Given the description of an element on the screen output the (x, y) to click on. 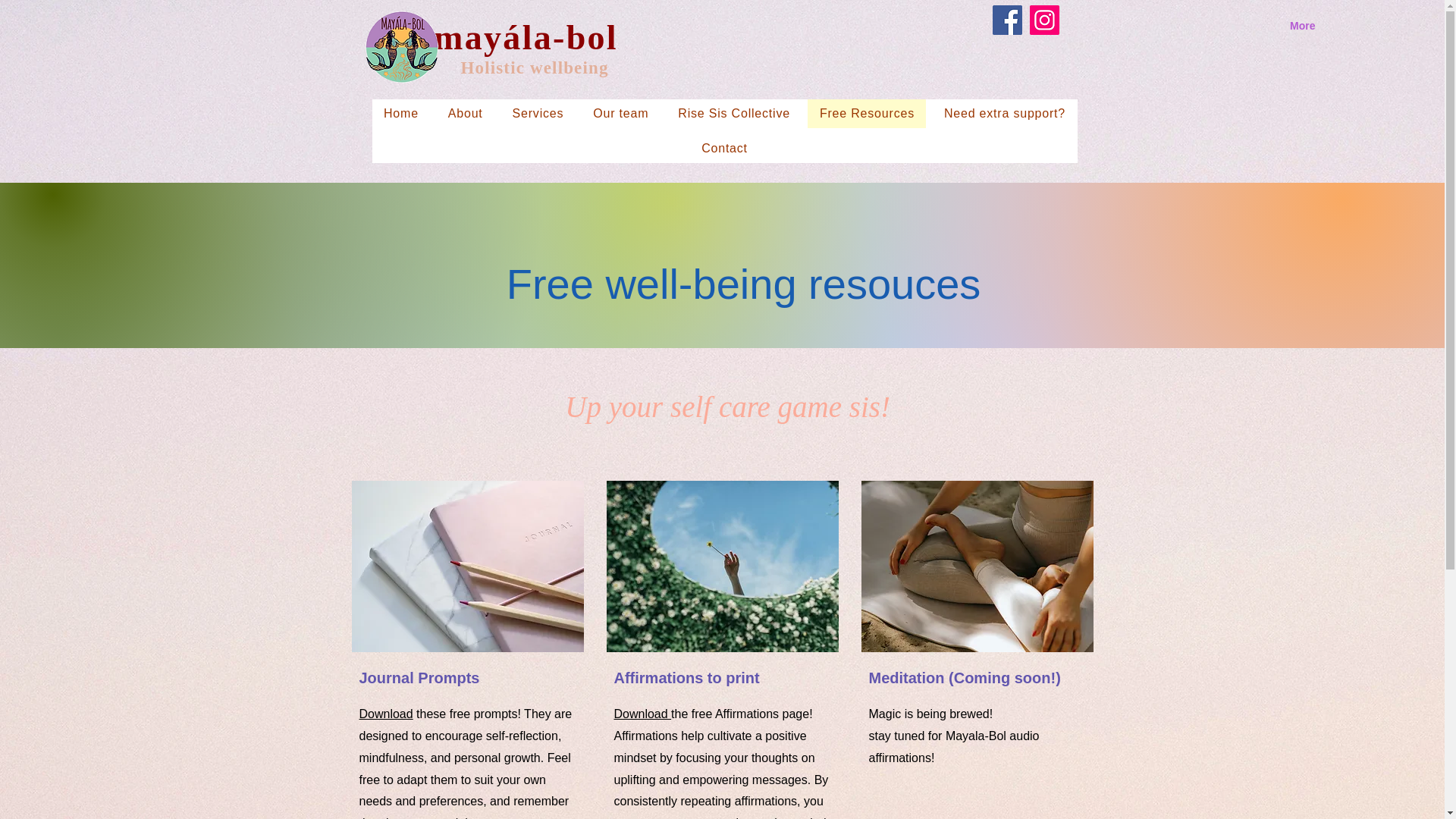
Free Resources (867, 113)
Services (537, 113)
Home (400, 113)
Download (386, 713)
Download (642, 713)
Contact (724, 148)
Rise Sis Collective (734, 113)
Our team (620, 113)
Need extra support? (1004, 113)
About (465, 113)
